Given the description of an element on the screen output the (x, y) to click on. 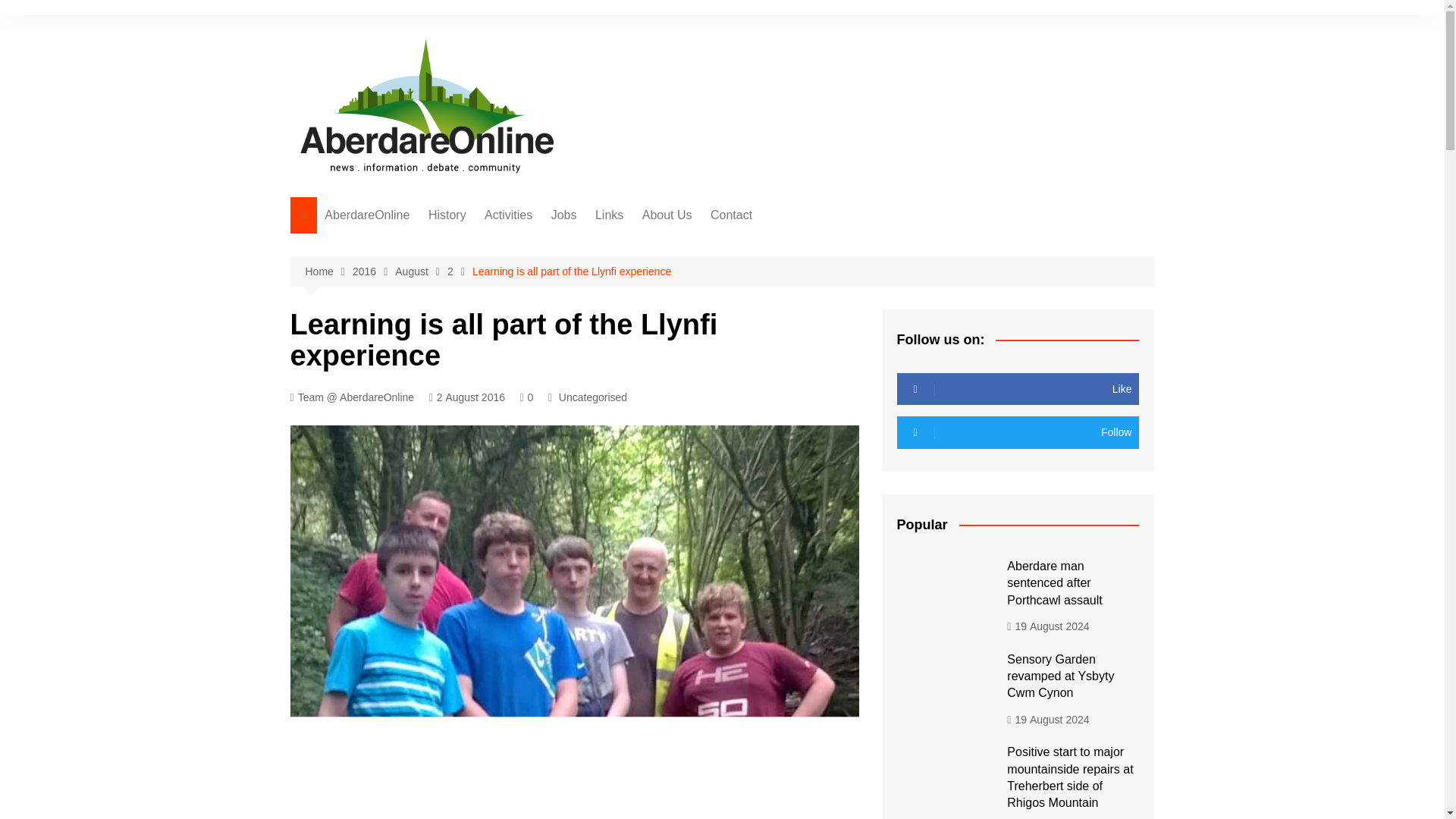
History (447, 215)
AberdareOnline (366, 215)
2016 (373, 271)
2 August 2016 (467, 397)
About Us (667, 215)
Old School Photographs (504, 245)
Phurnacite Plant, Abercwmboi (504, 365)
Abercynon: a historical walk (504, 295)
Links (609, 215)
Activities (508, 215)
